Given the description of an element on the screen output the (x, y) to click on. 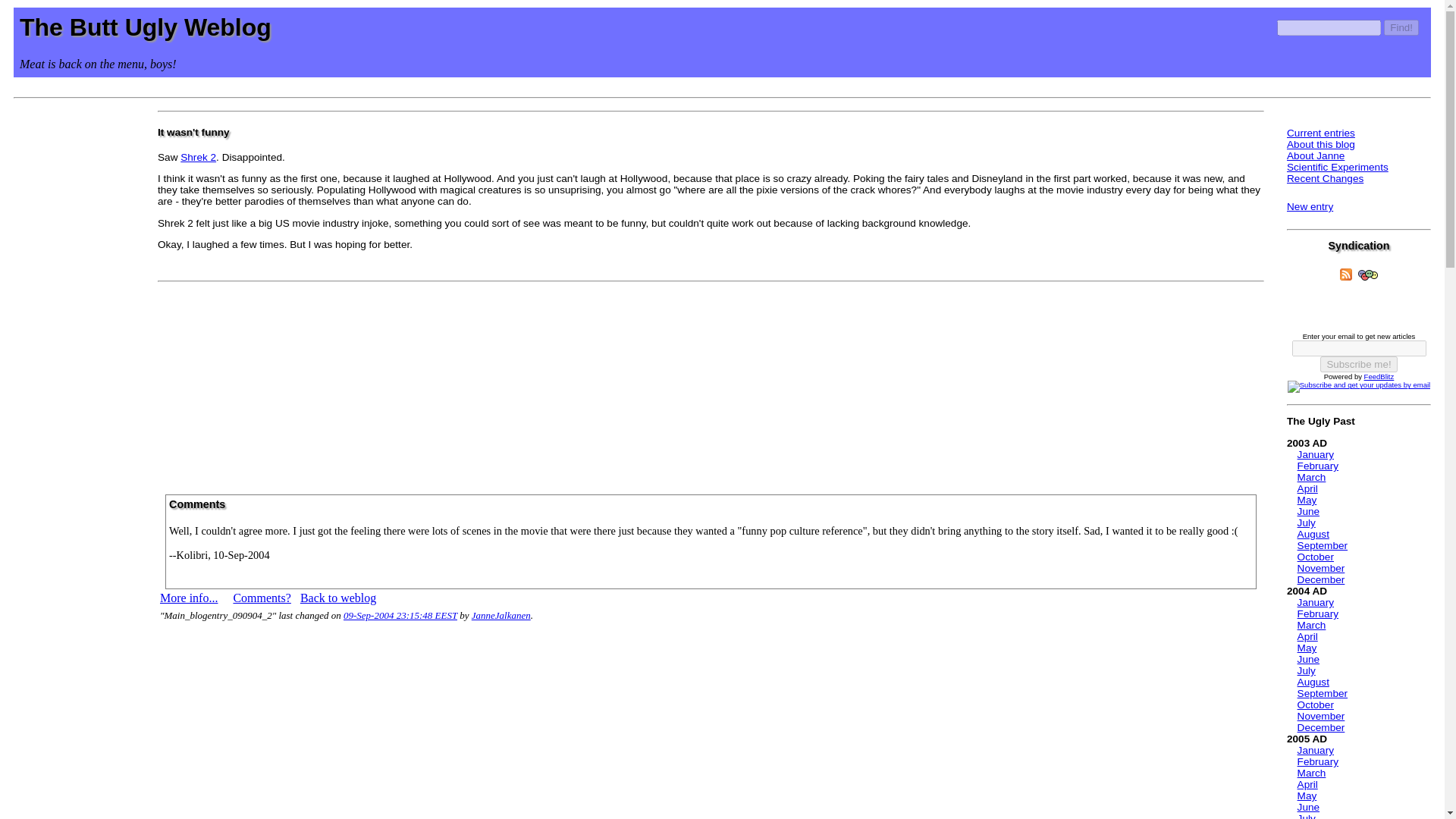
Comments? (260, 597)
September (1322, 693)
January (1315, 454)
June (1308, 659)
Subscribe me! (1358, 364)
Subscribe and get your updates by email (1358, 386)
September (1322, 545)
JanneJalkanen (501, 614)
Advertisement (710, 382)
More info... (188, 597)
Find! (1401, 27)
09-Sep-2004 23:15:48 EEST (400, 614)
The Butt Ugly Weblog (145, 26)
June (1308, 511)
February (1317, 465)
